Given the description of an element on the screen output the (x, y) to click on. 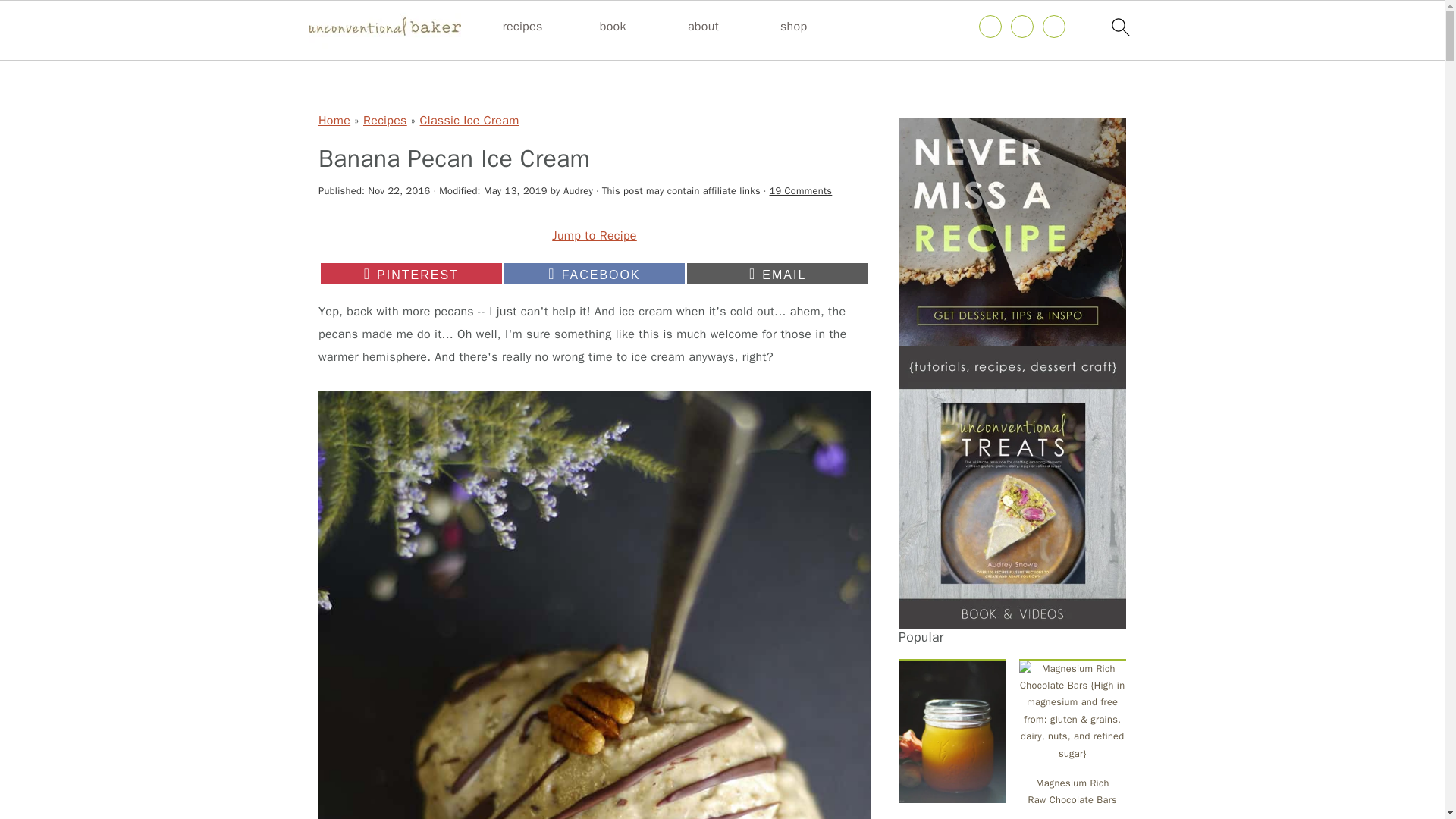
Recipes (384, 120)
Jump to Recipe (594, 235)
Home (334, 120)
search icon (1119, 26)
Classic Ice Cream (594, 273)
recipes (469, 120)
book (522, 26)
shop (612, 26)
19 Comments (411, 273)
about (777, 273)
